Given the description of an element on the screen output the (x, y) to click on. 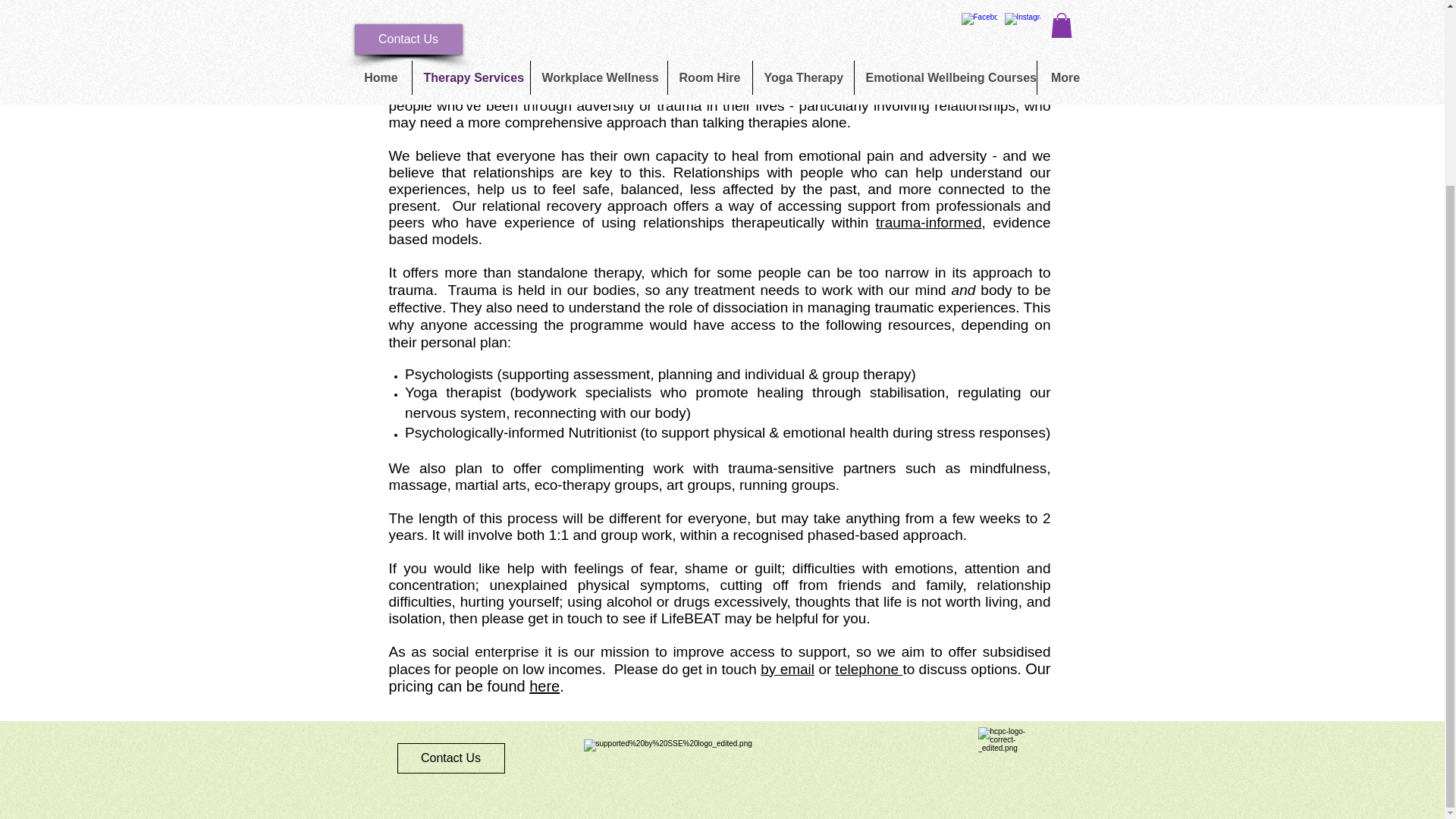
by email (786, 668)
Contact Us (451, 757)
here (544, 686)
telephone (868, 668)
trauma-informed (928, 222)
